Given the description of an element on the screen output the (x, y) to click on. 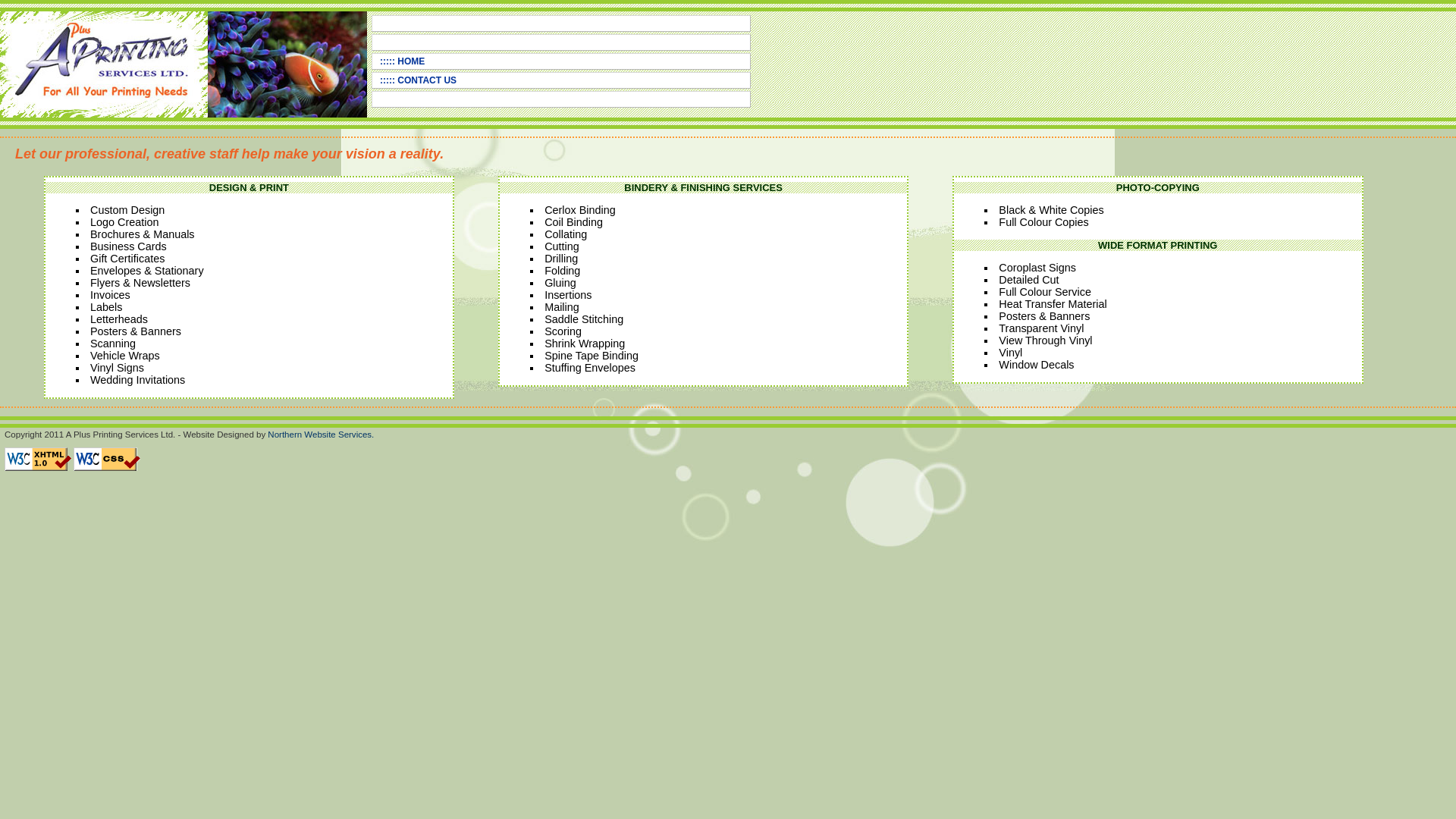
::::: HOME Element type: text (401, 61)
Northern Website Services. Element type: text (320, 434)
::::: CONTACT US Element type: text (417, 80)
Fish Element type: hover (287, 64)
A Plus Printing Logo Element type: hover (103, 64)
